Given the description of an element on the screen output the (x, y) to click on. 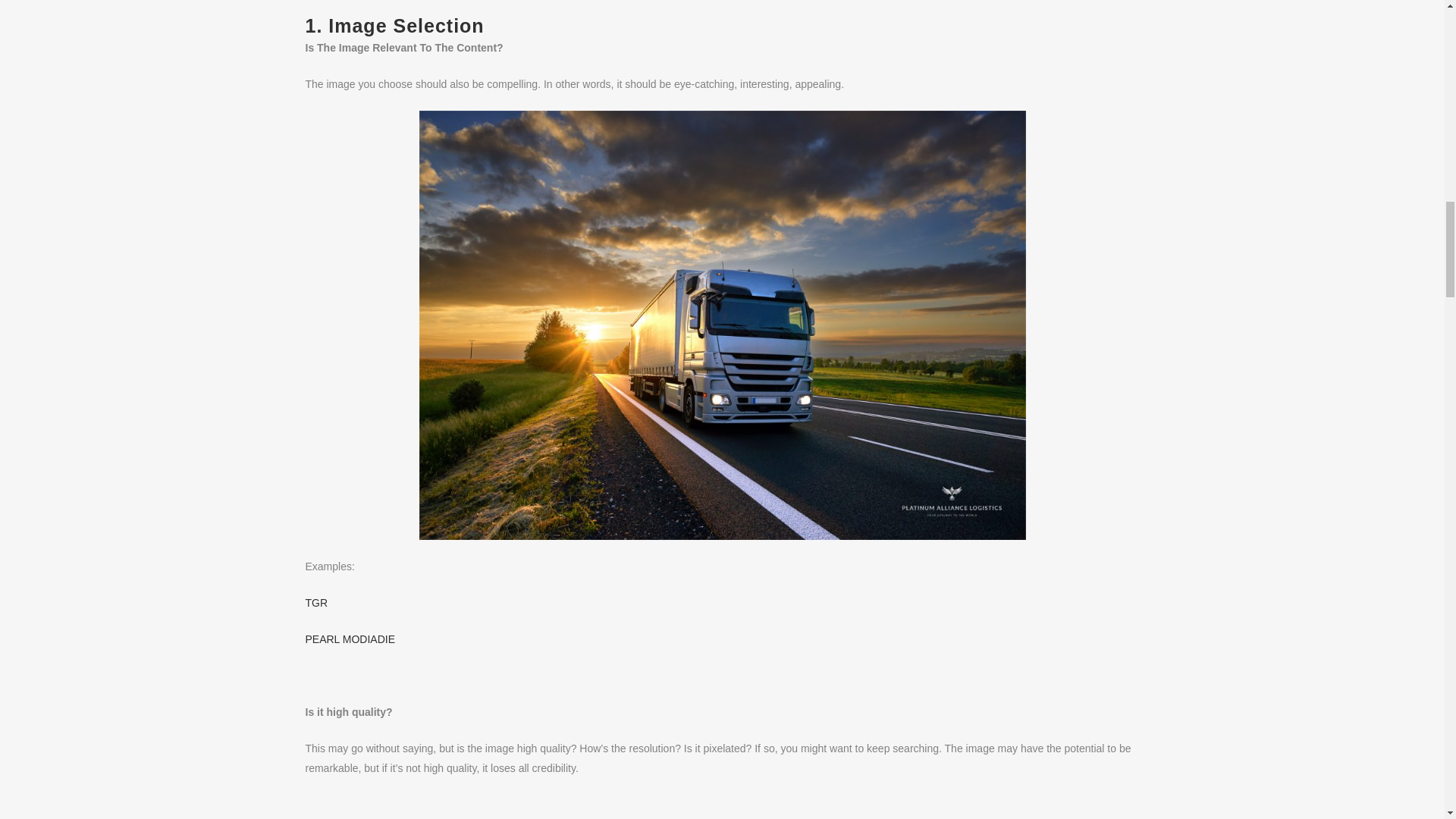
PEARL MODIADIE (349, 639)
TGR (315, 603)
